Given the description of an element on the screen output the (x, y) to click on. 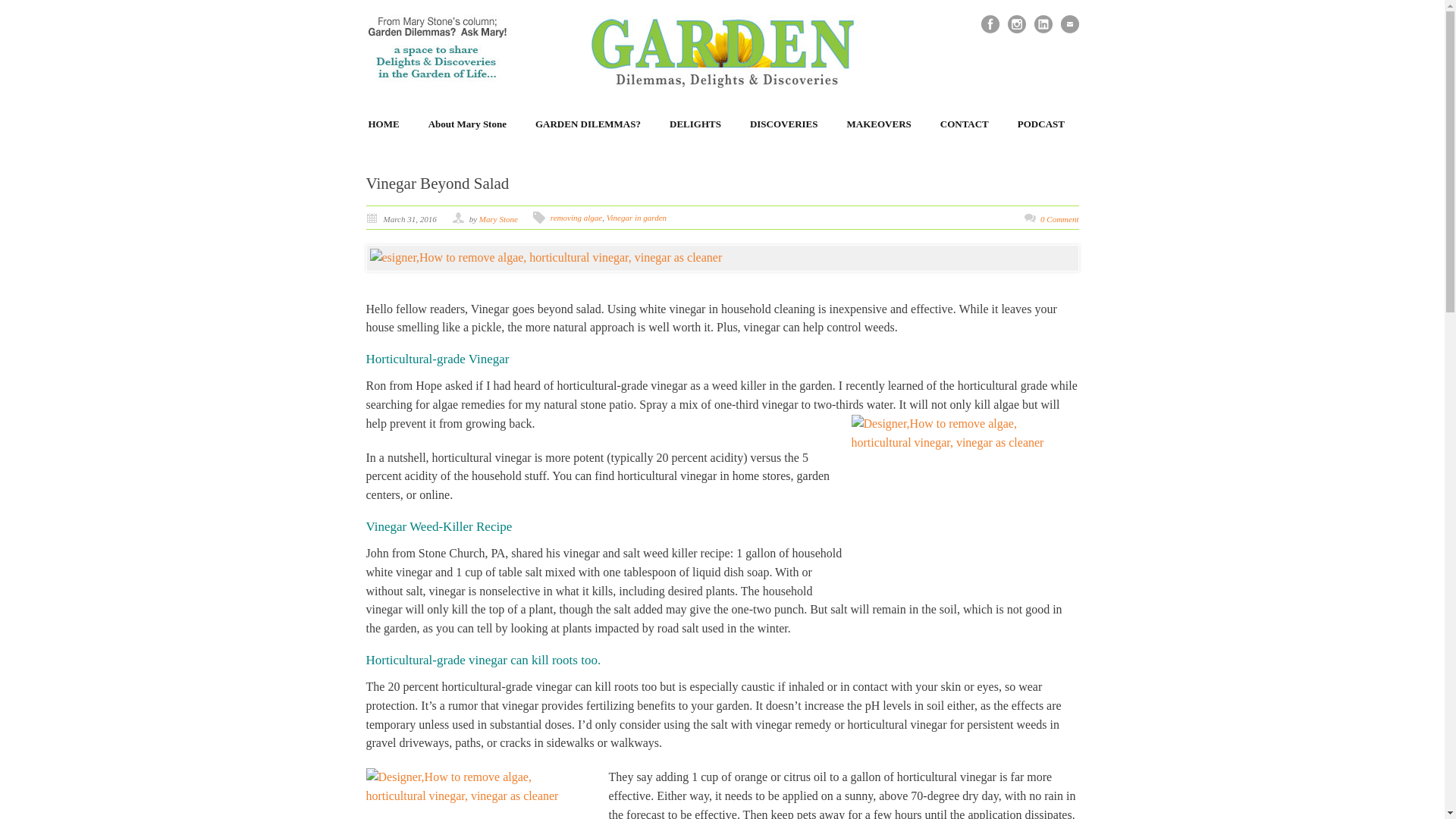
PODCAST (1040, 124)
Mary Stone (498, 218)
DISCOVERIES (783, 124)
Vinegar Beyond Salad (436, 183)
CONTACT (964, 124)
removing algae (576, 216)
About Mary Stone (467, 124)
DELIGHTS (695, 124)
0 Comment (1059, 218)
HOME (384, 124)
Vinegar in garden (636, 216)
GARDEN DILEMMAS? (588, 124)
Vinegar Beyond Salad (722, 257)
MAKEOVERS (879, 124)
